Given the description of an element on the screen output the (x, y) to click on. 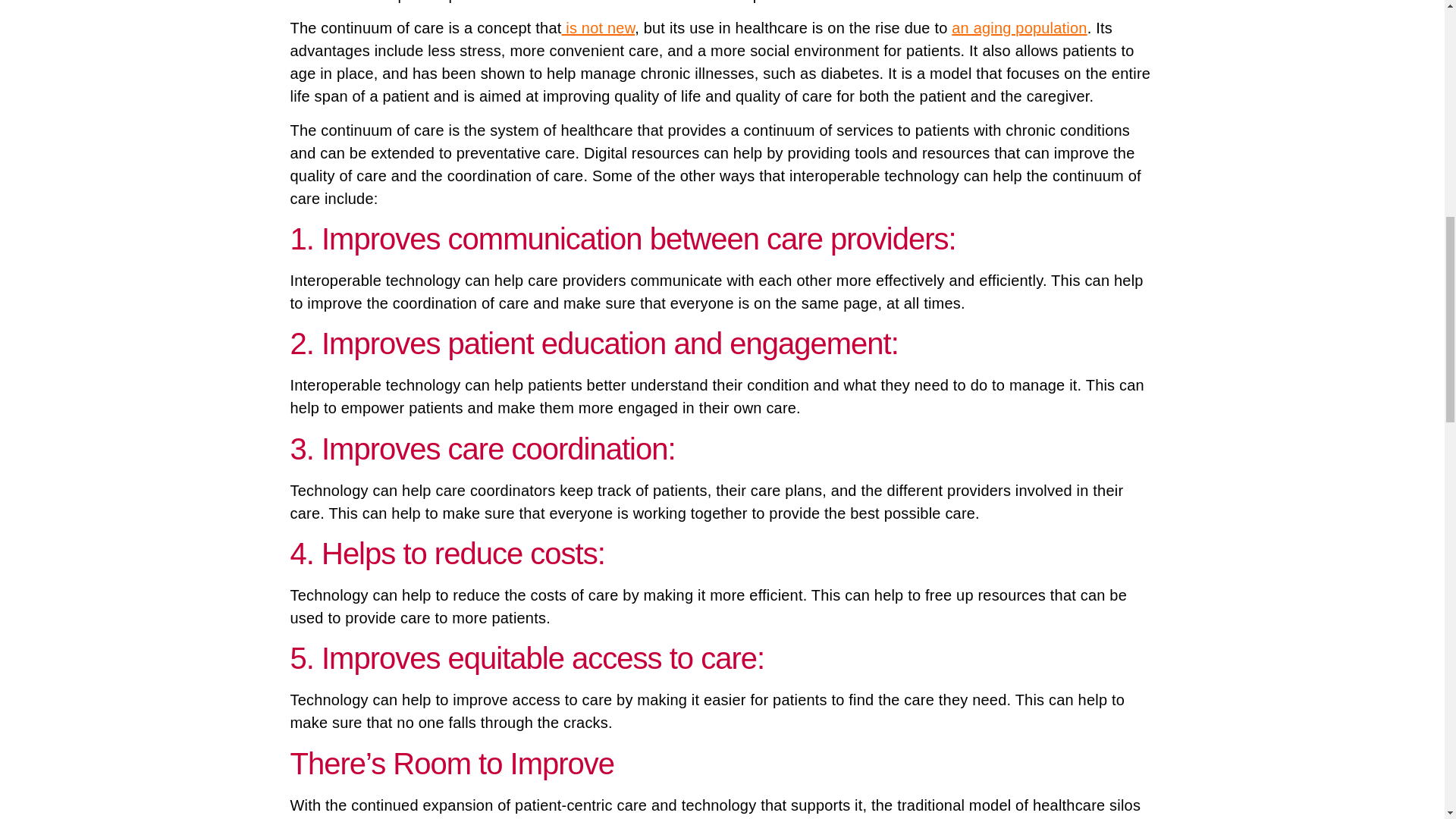
is not new (597, 27)
an aging population (1019, 27)
